Given the description of an element on the screen output the (x, y) to click on. 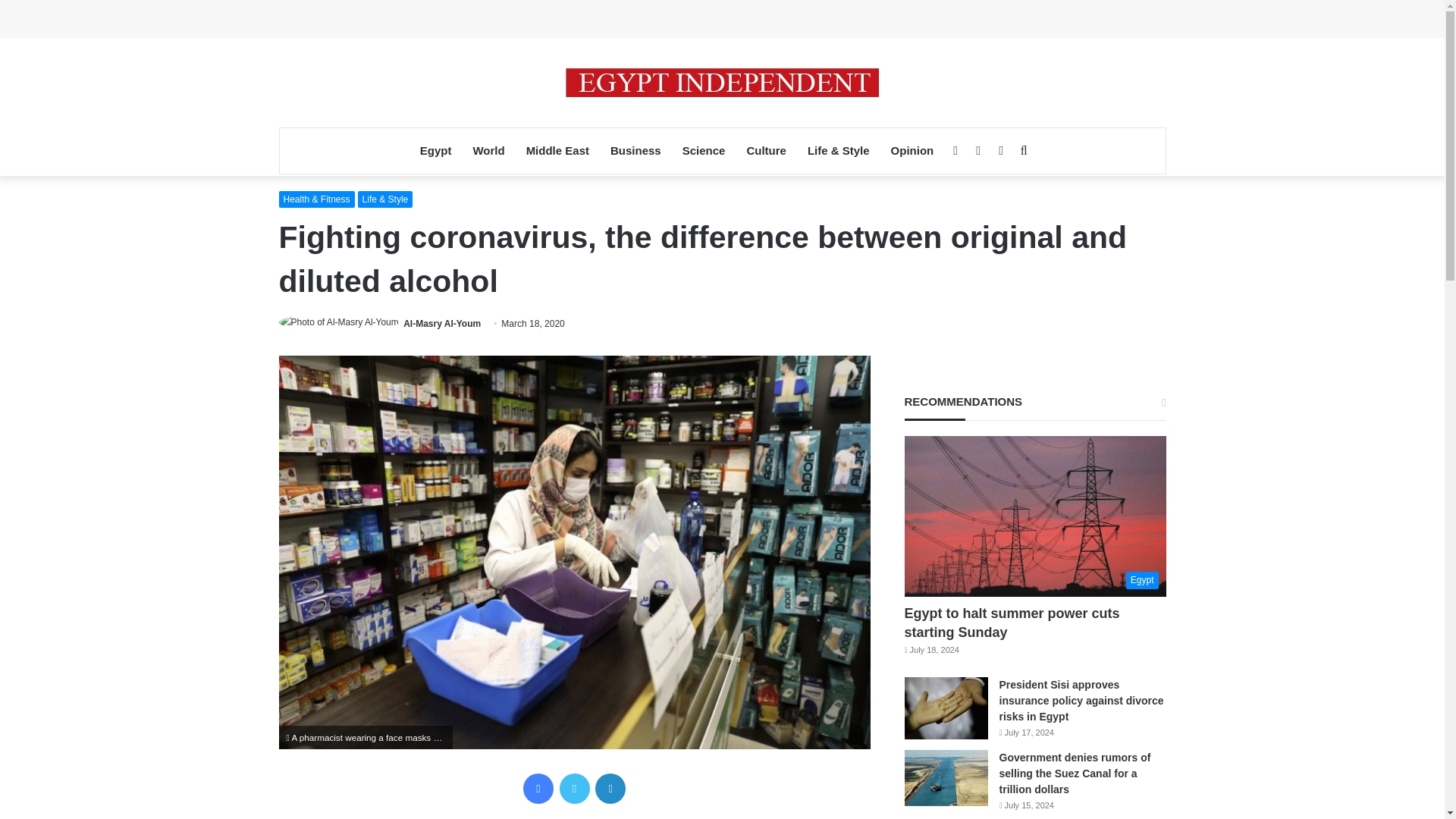
Twitter (574, 788)
Middle East (557, 150)
Science (703, 150)
LinkedIn (610, 788)
Twitter (574, 788)
Opinion (912, 150)
Al-Masry Al-Youm (441, 323)
Egypt Independent (722, 82)
Al-Masry Al-Youm (441, 323)
Facebook (537, 788)
LinkedIn (610, 788)
World (488, 150)
Culture (765, 150)
Business (635, 150)
Egypt (436, 150)
